Given the description of an element on the screen output the (x, y) to click on. 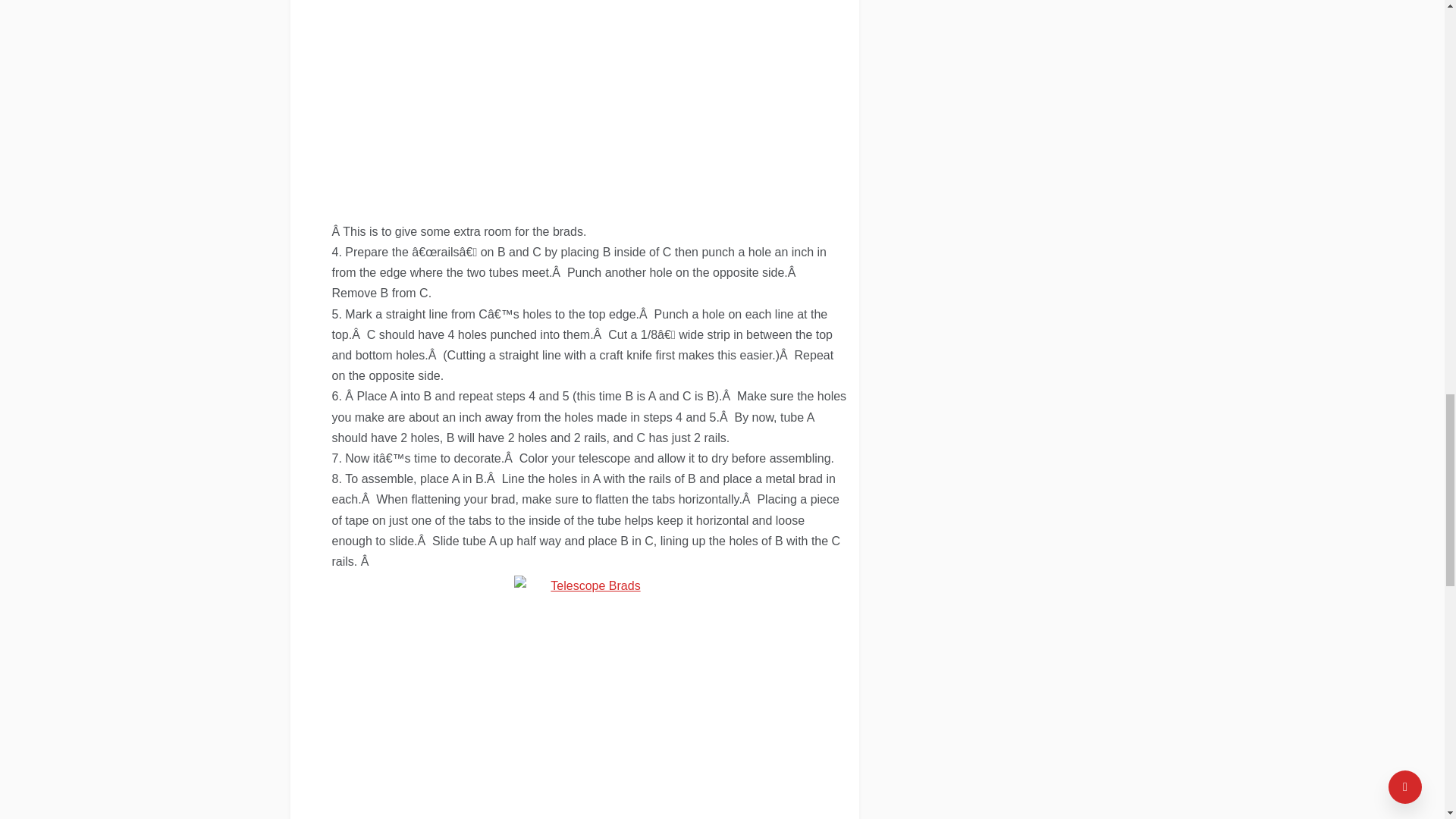
Telescope-brads (589, 687)
Telescope-triangle (588, 103)
